Given the description of an element on the screen output the (x, y) to click on. 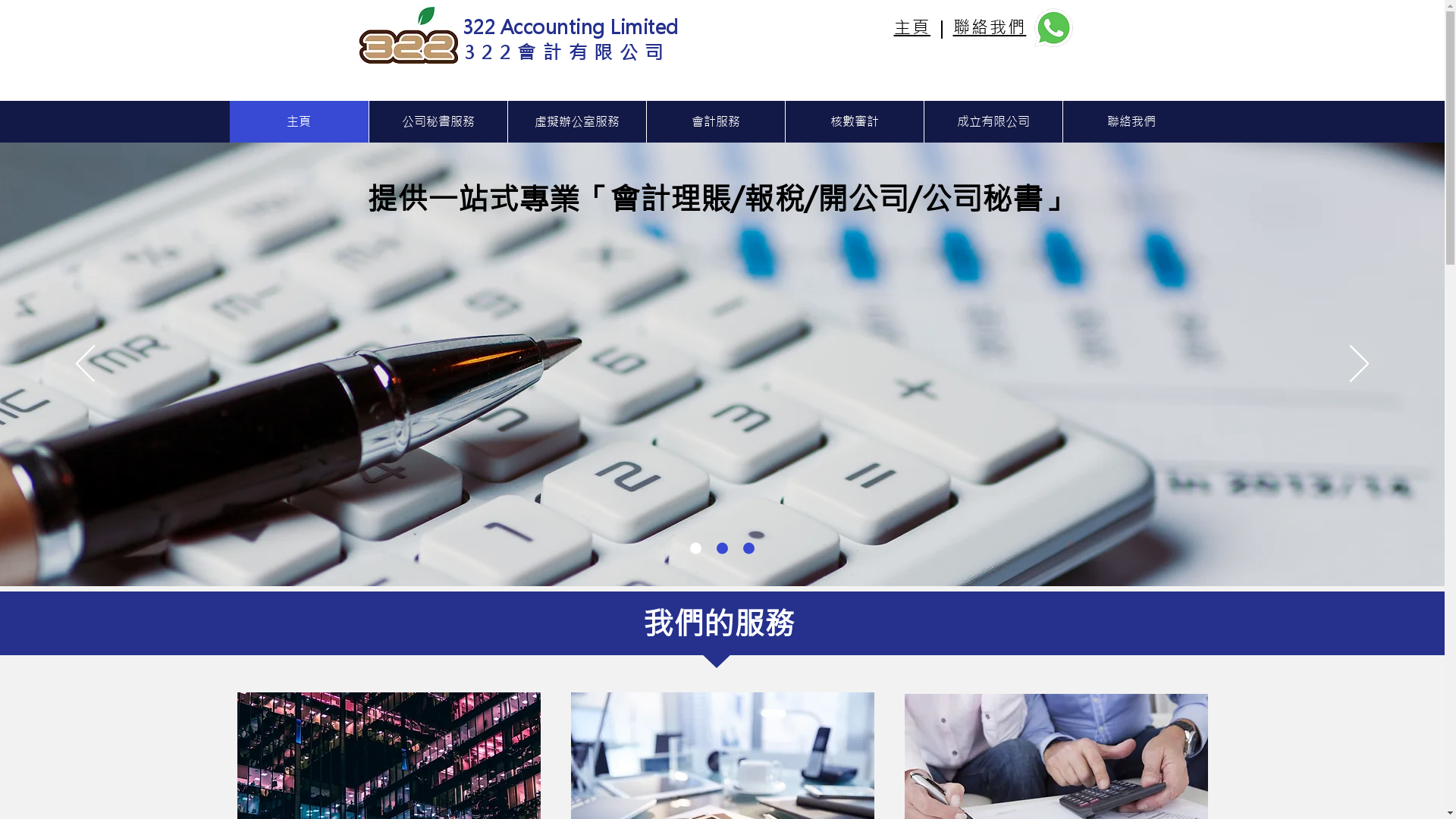
 | Element type: text (938, 28)
322 Accounting Limited Element type: text (570, 26)
